Given the description of an element on the screen output the (x, y) to click on. 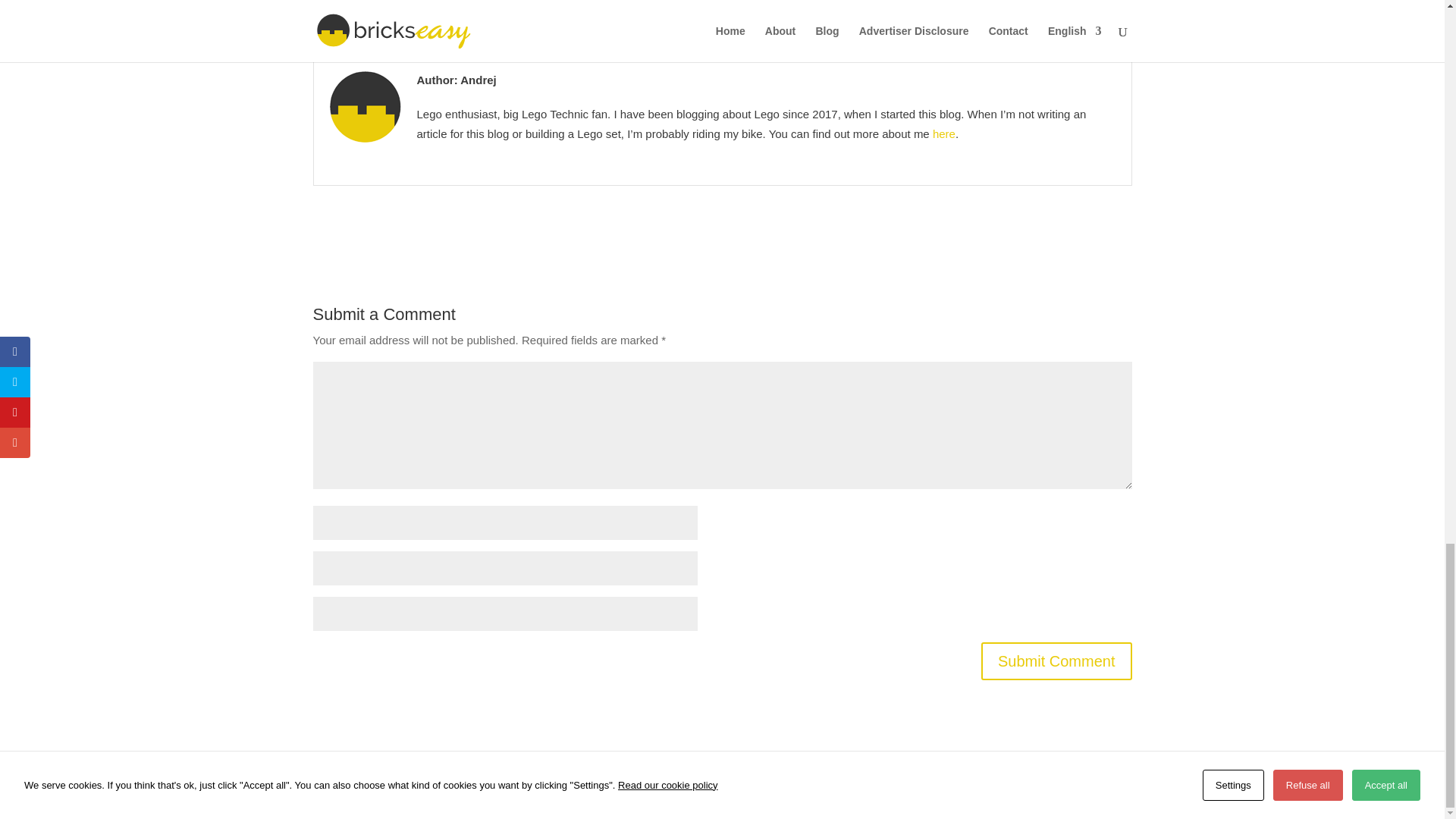
Submit Comment (1056, 661)
here (944, 133)
